Given the description of an element on the screen output the (x, y) to click on. 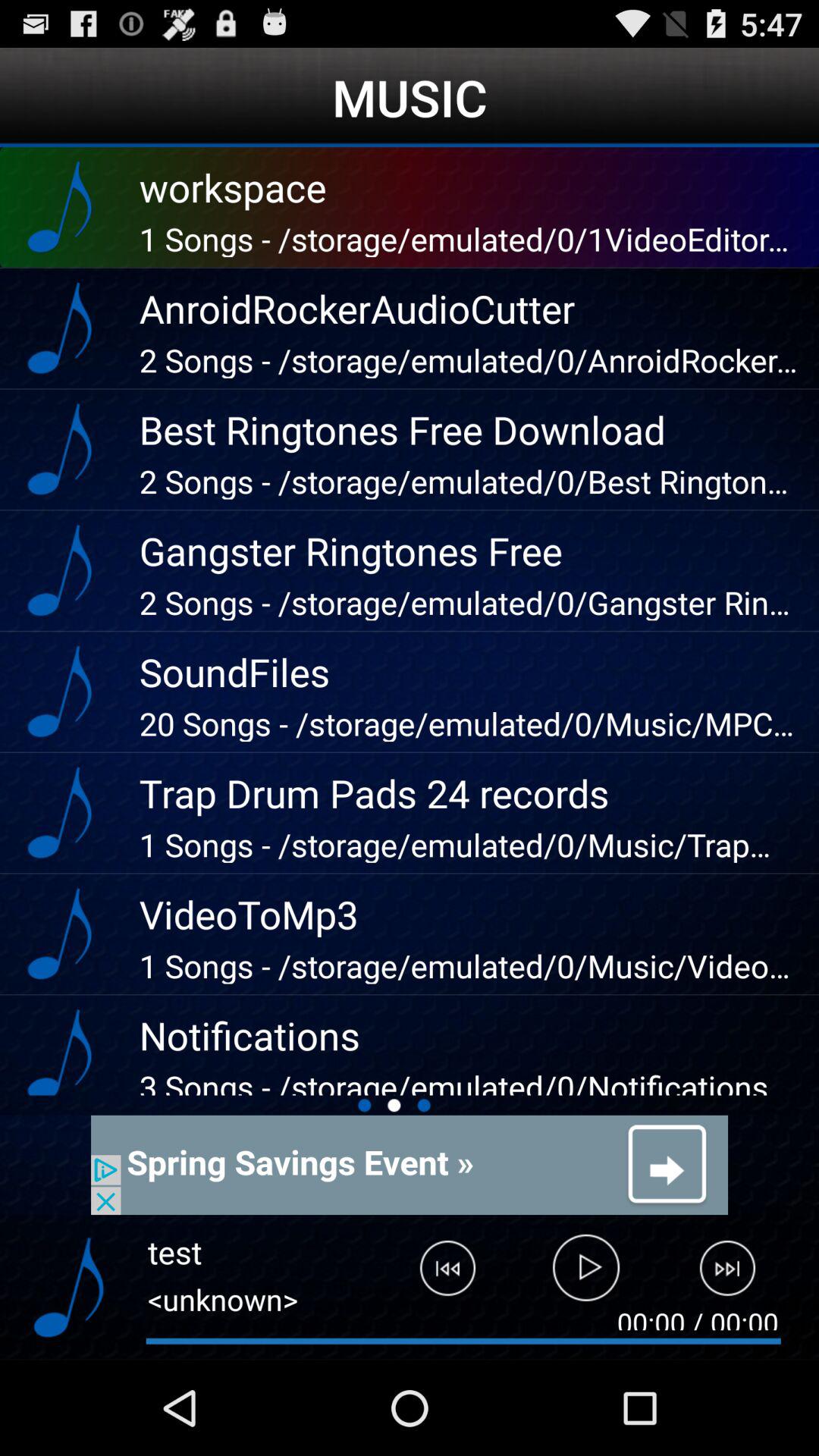
check the spring savings event box (409, 1164)
